Given the description of an element on the screen output the (x, y) to click on. 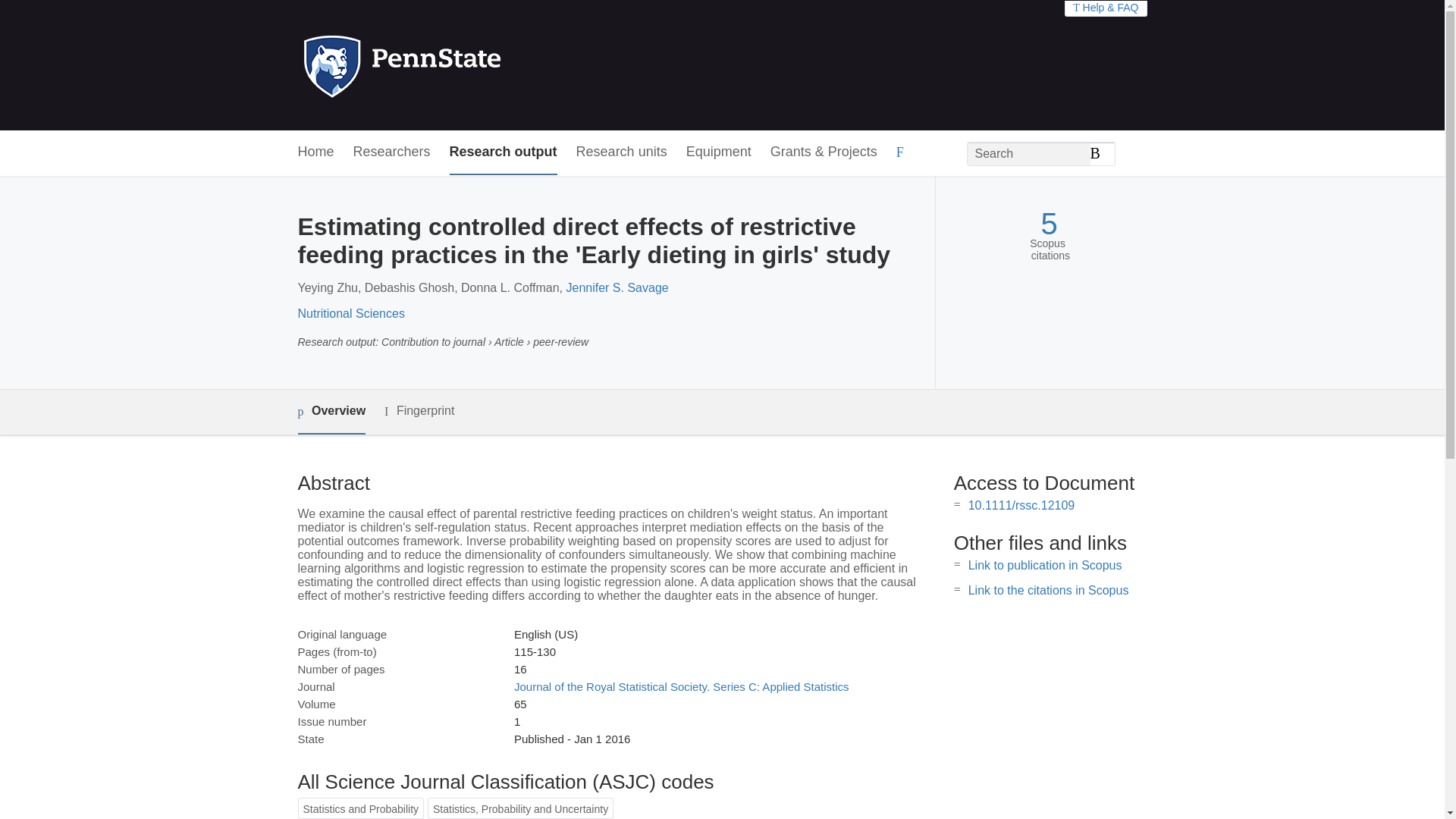
Overview (331, 411)
Researchers (391, 152)
Research output (503, 152)
Jennifer S. Savage (617, 287)
Penn State Home (467, 65)
Link to the citations in Scopus (1048, 590)
Research units (621, 152)
Nutritional Sciences (350, 313)
Equipment (718, 152)
Link to publication in Scopus (1045, 564)
Fingerprint (419, 411)
